Given the description of an element on the screen output the (x, y) to click on. 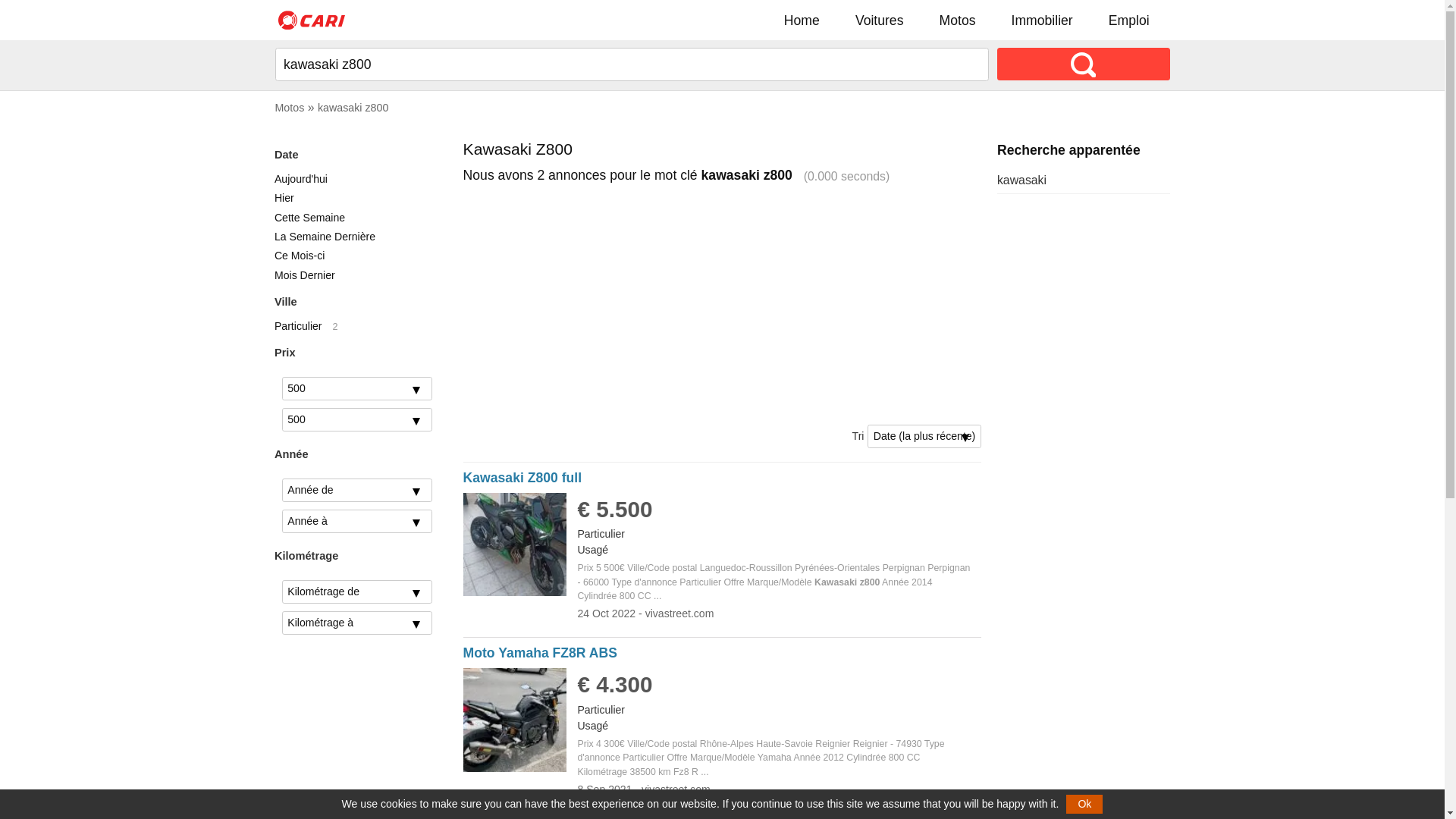
Motos Element type: text (289, 107)
Moto Yamaha FZ8R ABS Element type: text (540, 652)
kawasaki z800 Element type: text (352, 107)
Ok Element type: text (1084, 803)
Motos Element type: text (957, 20)
kawasaki Element type: text (1021, 179)
Kawasaki Z800 full Element type: hover (515, 591)
Advertisement Element type: hover (722, 304)
Kawasaki Z800 full Element type: text (522, 477)
Moto Yamaha FZ8R ABS Element type: hover (515, 767)
Emploi Element type: text (1128, 20)
Voitures Element type: text (879, 20)
Home Element type: text (801, 20)
Immobilier Element type: text (1042, 20)
Advertisement Element type: hover (1083, 434)
